Given the description of an element on the screen output the (x, y) to click on. 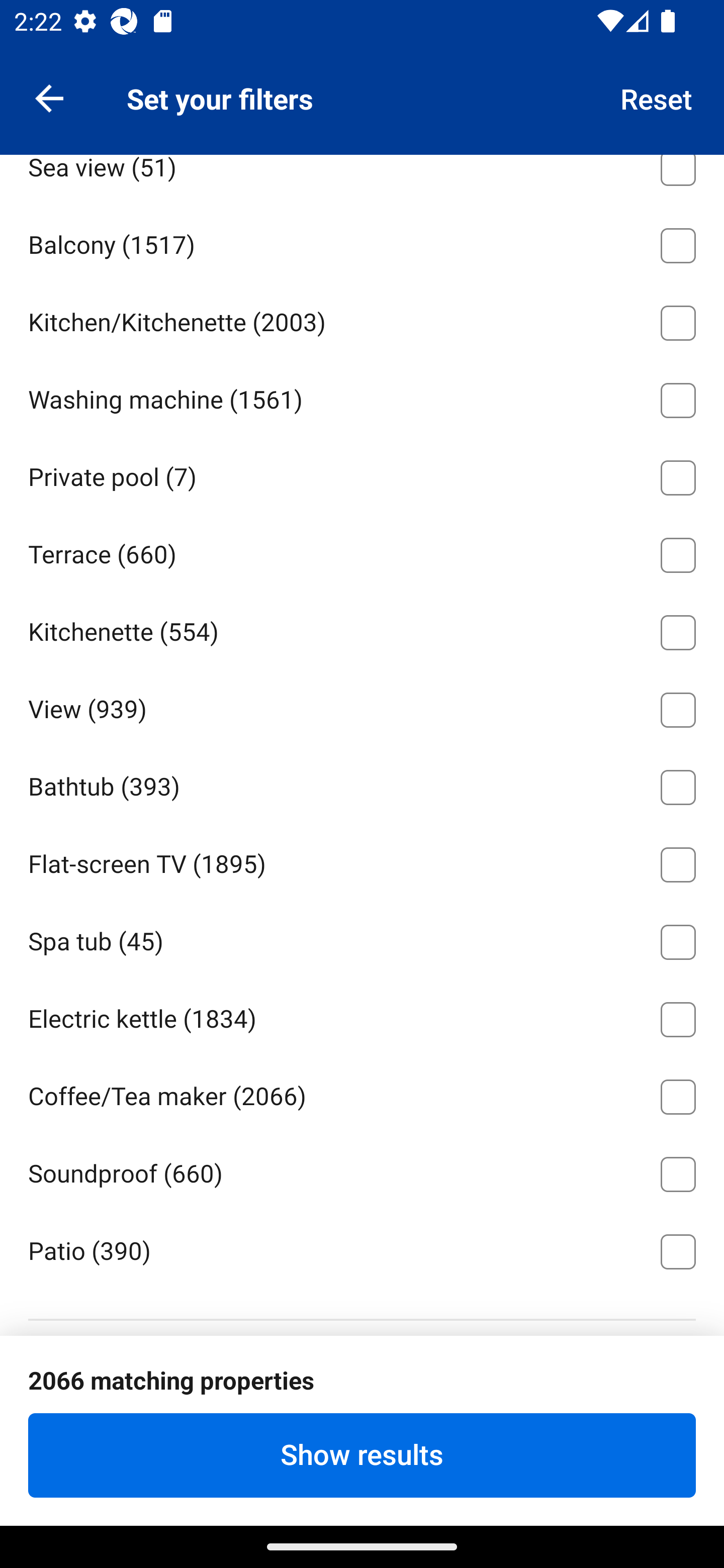
Air conditioning ⁦(2047) (361, 86)
Navigate up (49, 97)
Reset (656, 97)
Sea view ⁦(51) (361, 179)
Balcony ⁦(1517) (361, 241)
Kitchen/Kitchenette ⁦(2003) (361, 319)
Washing machine ⁦(1561) (361, 397)
Private pool ⁦(7) (361, 473)
Terrace ⁦(660) (361, 551)
Kitchenette ⁦(554) (361, 629)
View ⁦(939) (361, 705)
Bathtub ⁦(393) (361, 783)
Flat-screen TV ⁦(1895) (361, 861)
Spa tub ⁦(45) (361, 938)
Electric kettle ⁦(1834) (361, 1015)
Coffee/Tea maker ⁦(2066) (361, 1093)
Soundproof ⁦(660) (361, 1170)
Patio ⁦(390) (361, 1249)
Show results (361, 1454)
